Given the description of an element on the screen output the (x, y) to click on. 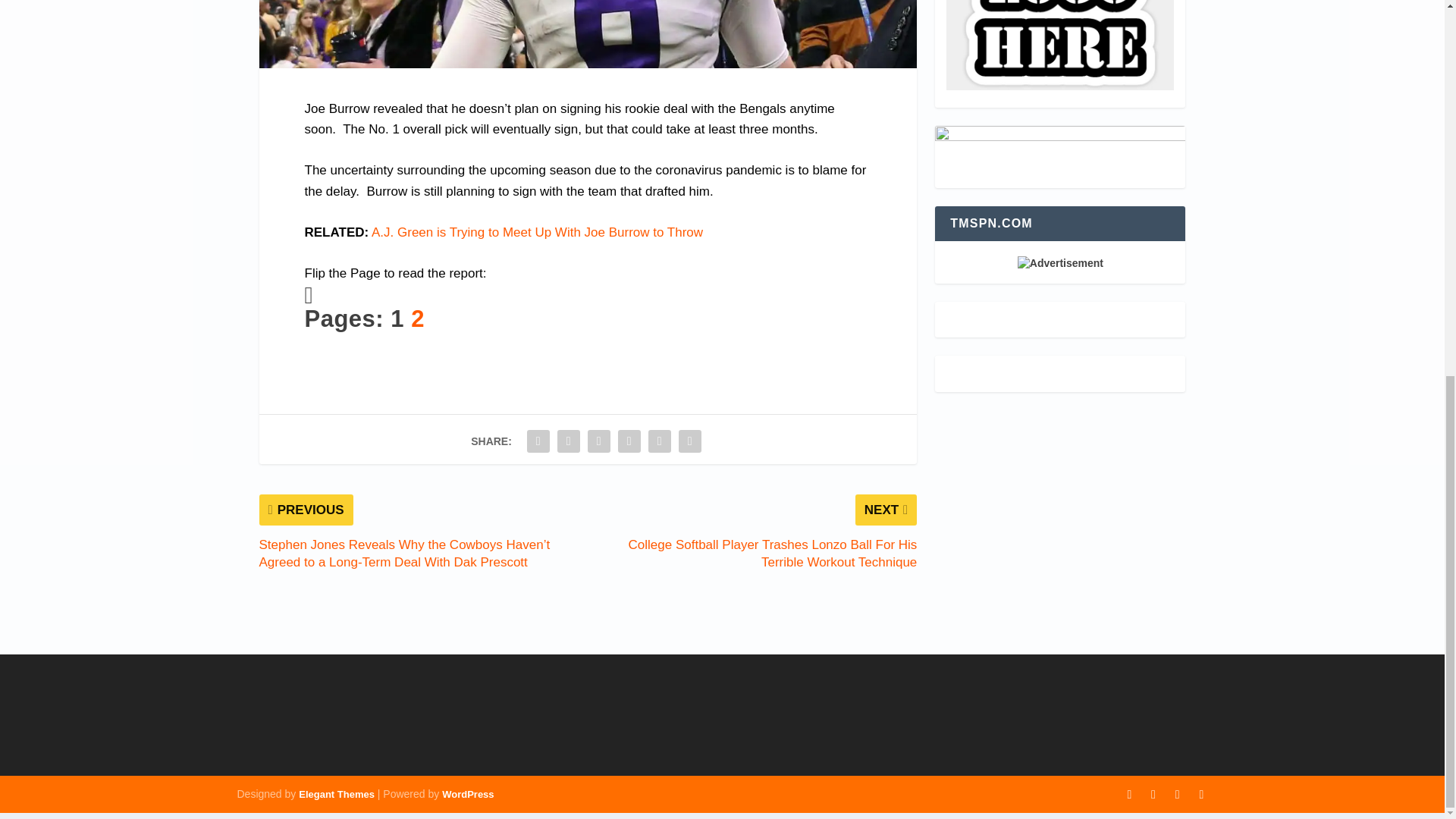
Premium WordPress Themes (336, 794)
WordPress (467, 794)
Elegant Themes (336, 794)
A.J. Green is Trying to Meet Up With Joe Burrow to Throw (537, 232)
